Given the description of an element on the screen output the (x, y) to click on. 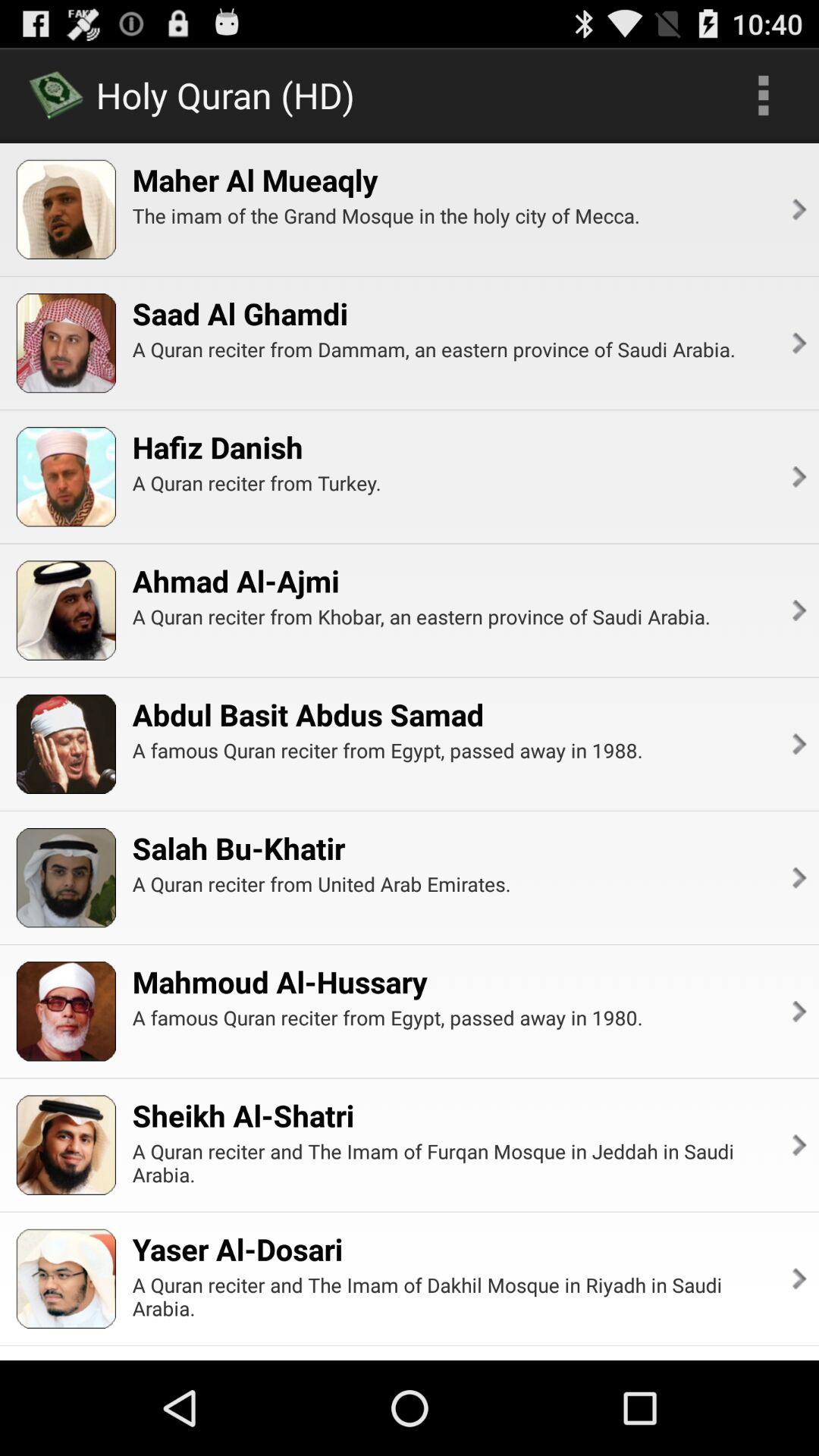
turn off sheikh al-shatri app (243, 1115)
